Given the description of an element on the screen output the (x, y) to click on. 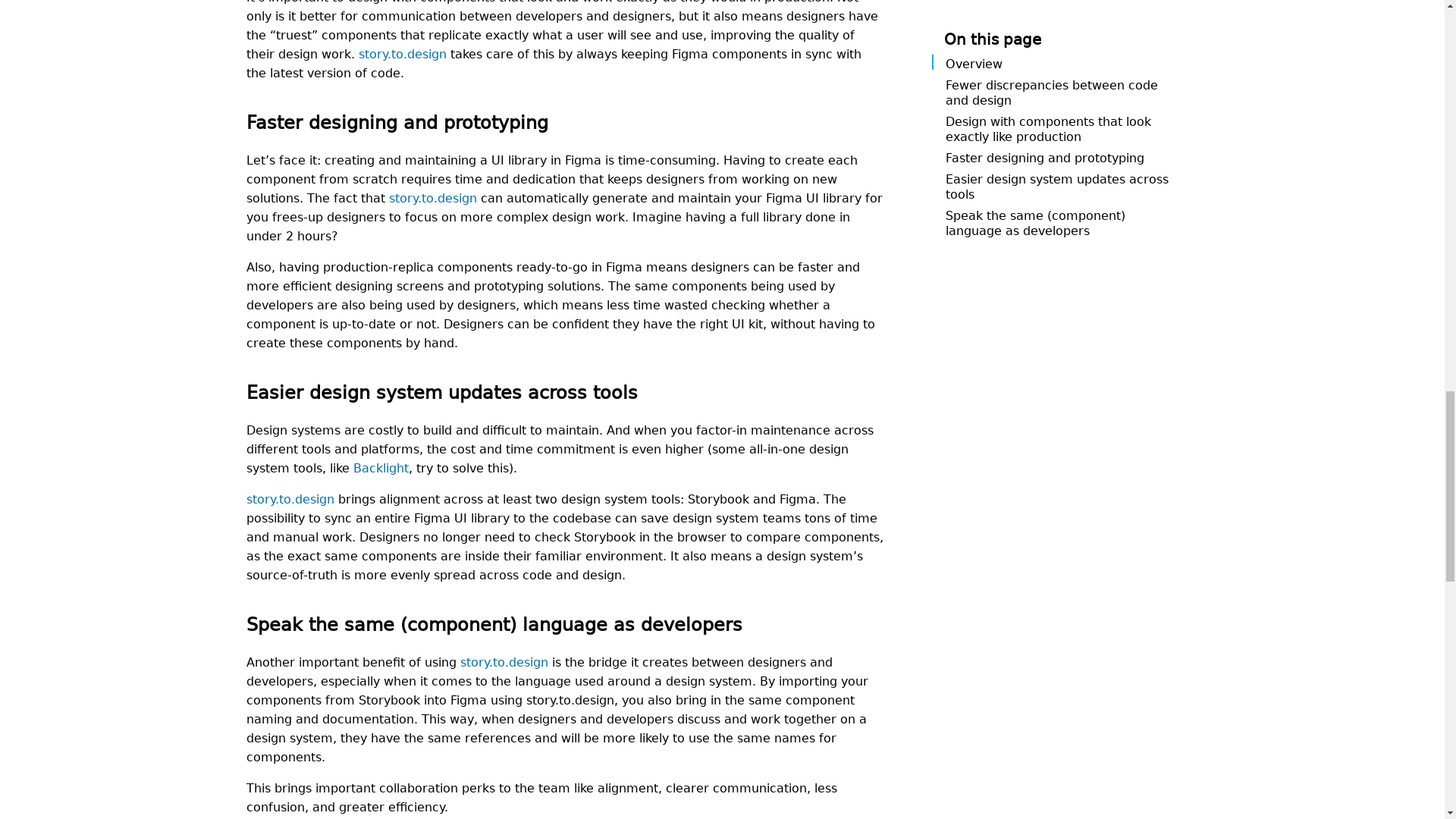
story.to.design (503, 659)
story.to.design (401, 51)
Backlight (381, 465)
story.to.design (432, 195)
story.to.design (289, 496)
